Given the description of an element on the screen output the (x, y) to click on. 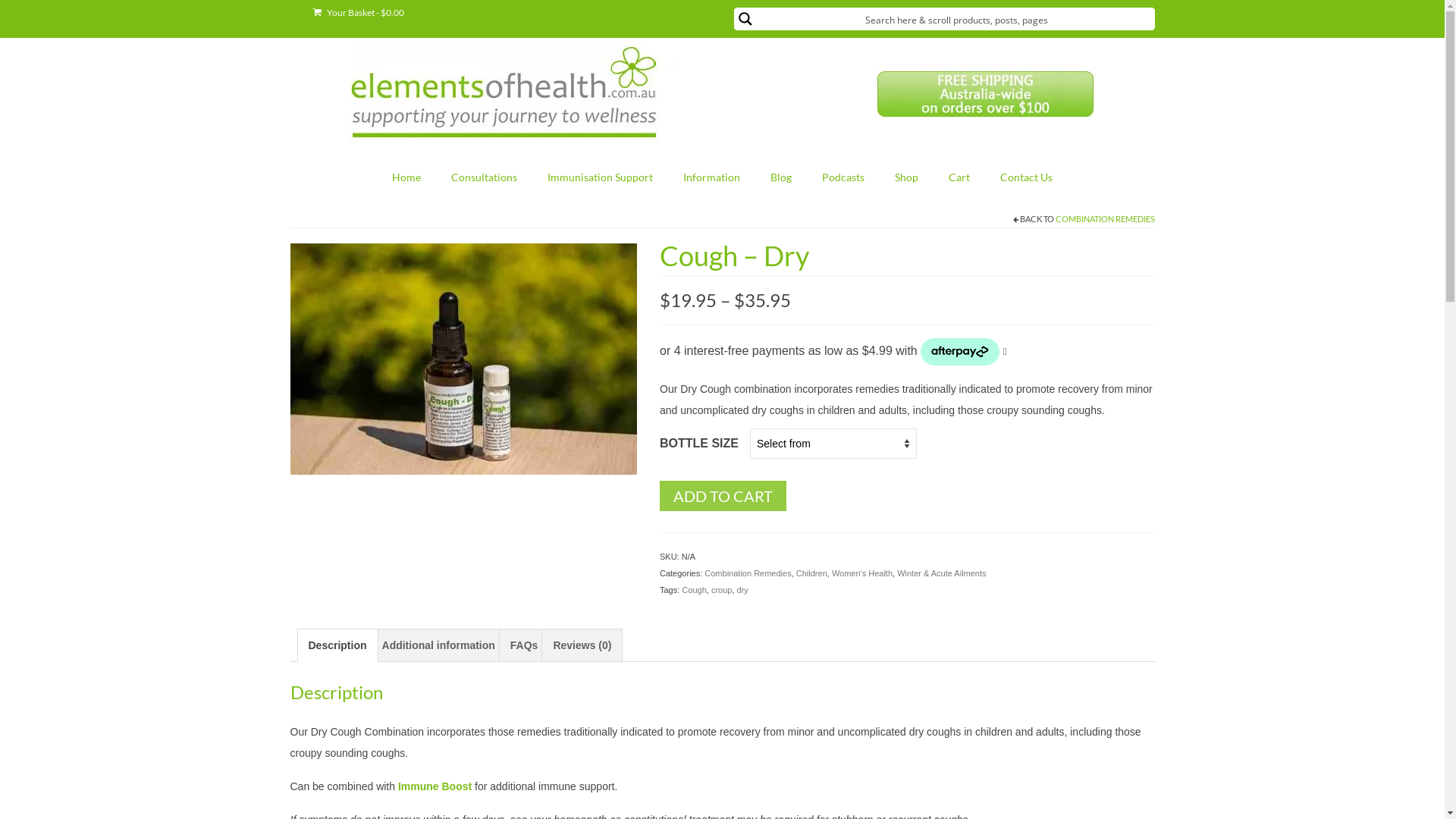
Additional information Element type: text (438, 645)
Immune Boost Element type: text (434, 786)
Home Element type: text (406, 177)
Reviews (0) Element type: text (581, 645)
Children Element type: text (811, 572)
Cart Element type: text (959, 177)
Cough Element type: text (693, 589)
Description Element type: text (336, 645)
Shop Element type: text (906, 177)
Immunisation Support Element type: text (600, 177)
Your Basket - $0.00 Element type: text (357, 12)
Consultations Element type: text (484, 177)
Cough dry Element type: hover (463, 357)
COMBINATION REMEDIES Element type: text (1104, 218)
Blog Element type: text (780, 177)
Winter & Acute Ailments Element type: text (941, 572)
ADD TO CART Element type: text (722, 495)
dry Element type: text (742, 589)
Women's Health Element type: text (861, 572)
Combination Remedies Element type: text (747, 572)
Contact Us Element type: text (1026, 177)
FAQs Element type: text (524, 645)
croup Element type: text (721, 589)
Information Element type: text (711, 177)
Podcasts Element type: text (842, 177)
